Given the description of an element on the screen output the (x, y) to click on. 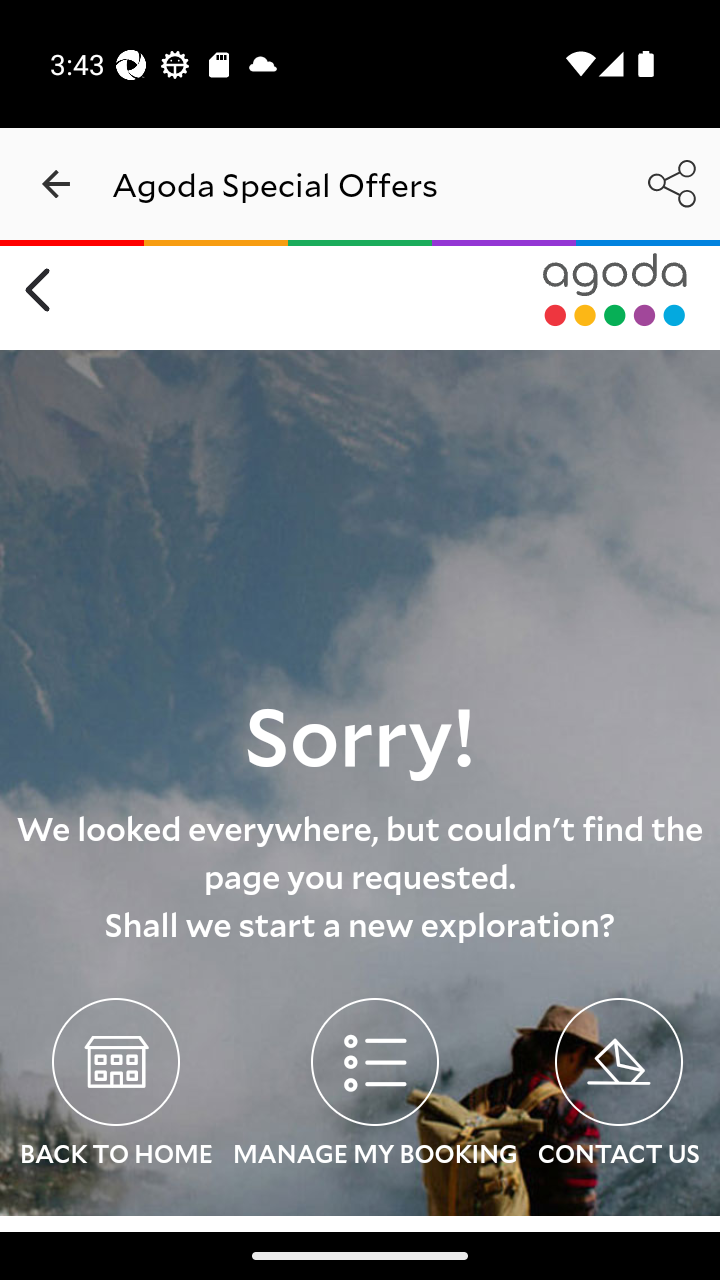
navigation_button (56, 184)
Share (672, 183)
color-default (615, 289)
 BACK TO HOME  BACK TO HOME (115, 1085)
 MANAGE MY BOOKING  MANAGE MY BOOKING (374, 1085)
 CONTACT US  CONTACT US (618, 1085)
